Given the description of an element on the screen output the (x, y) to click on. 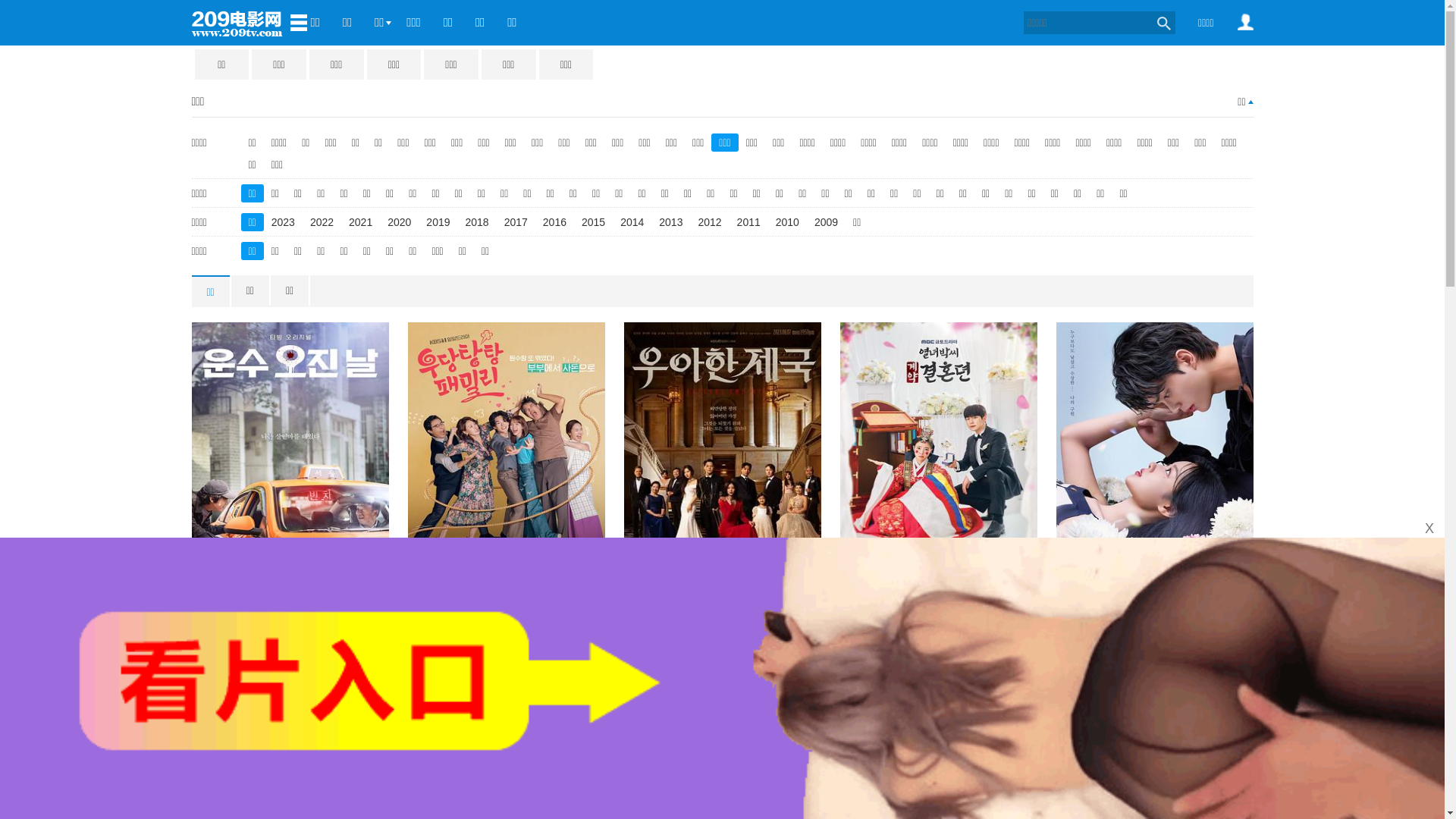
2010 Element type: text (787, 222)
2018 Element type: text (477, 222)
2016 Element type: text (554, 222)
2021 Element type: text (360, 222)
2015 Element type: text (593, 222)
2009 Element type: text (825, 222)
2014 Element type: text (631, 222)
2022 Element type: text (321, 222)
2013 Element type: text (670, 222)
2020 Element type: text (398, 222)
2012 Element type: text (709, 222)
2019 Element type: text (437, 222)
2011 Element type: text (748, 222)
2017 Element type: text (515, 222)
2023 Element type: text (282, 222)
